Given the description of an element on the screen output the (x, y) to click on. 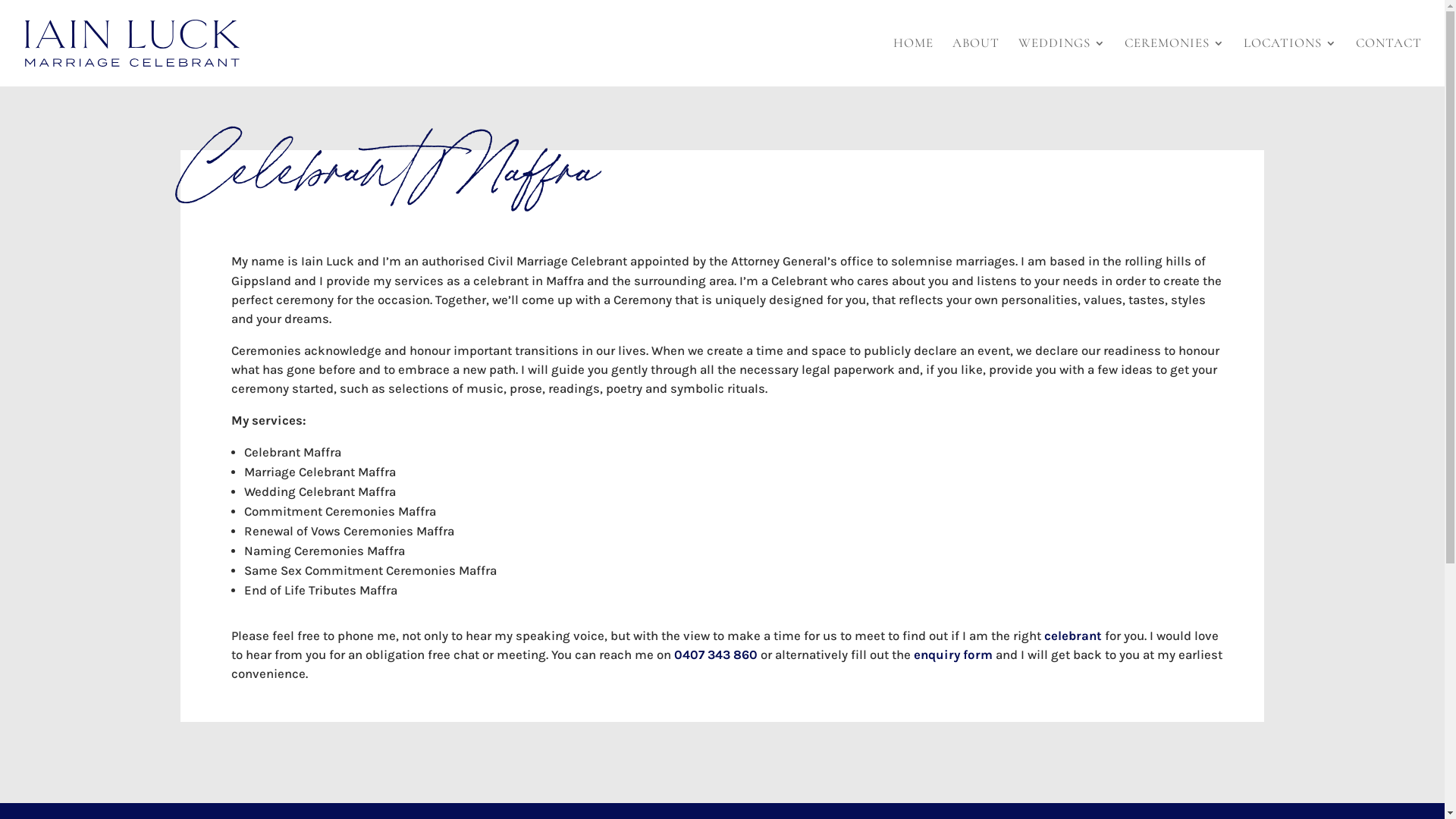
CEREMONIES Element type: text (1174, 61)
enquiry form Element type: text (952, 654)
WEDDINGS Element type: text (1061, 61)
0407 343 860 Element type: text (715, 654)
CONTACT Element type: text (1388, 61)
ABOUT Element type: text (975, 61)
celebrant Element type: text (1072, 635)
HOME Element type: text (913, 61)
LOCATIONS Element type: text (1289, 61)
